Given the description of an element on the screen output the (x, y) to click on. 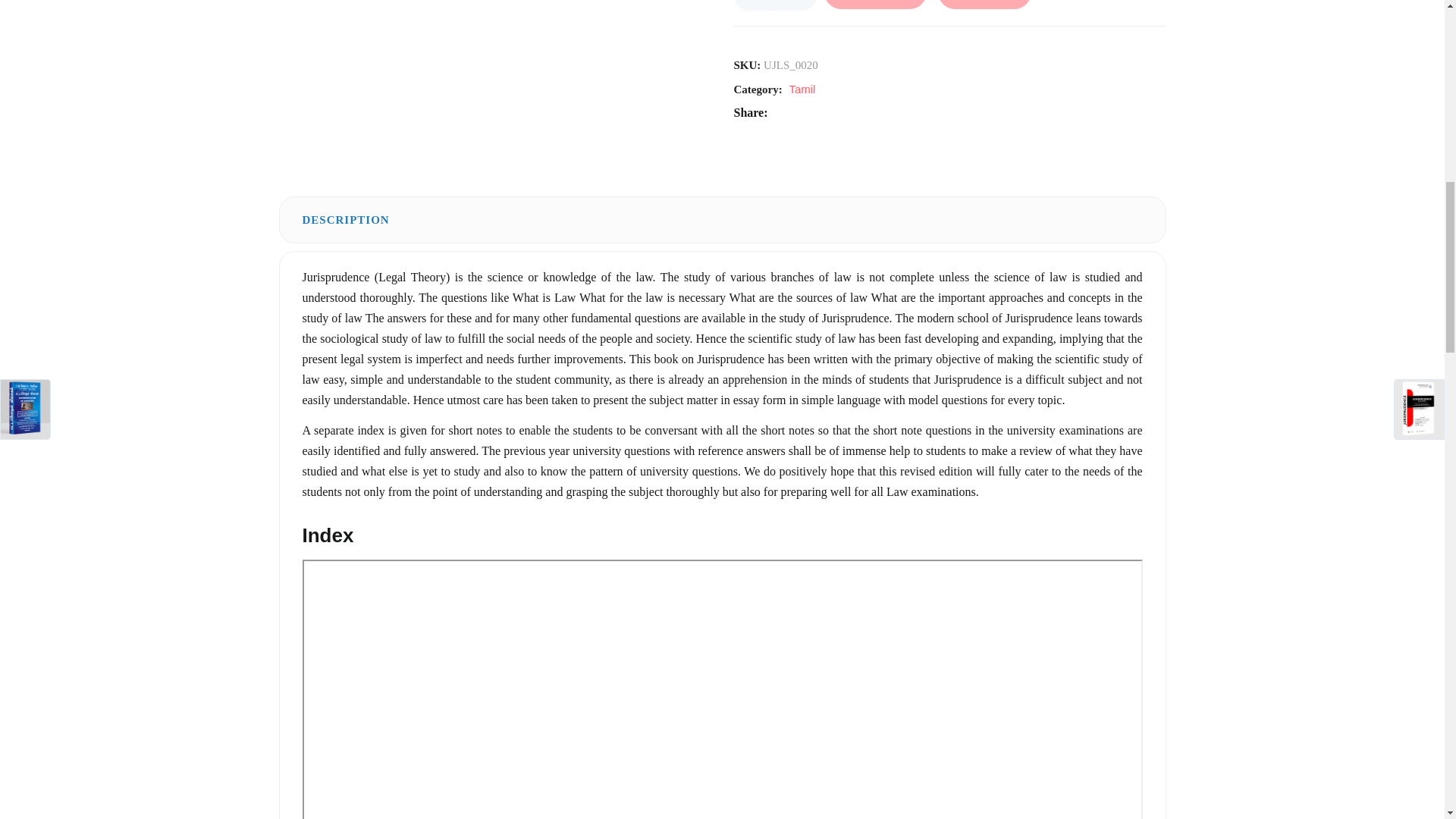
1 (774, 5)
Qty (774, 5)
